Given the description of an element on the screen output the (x, y) to click on. 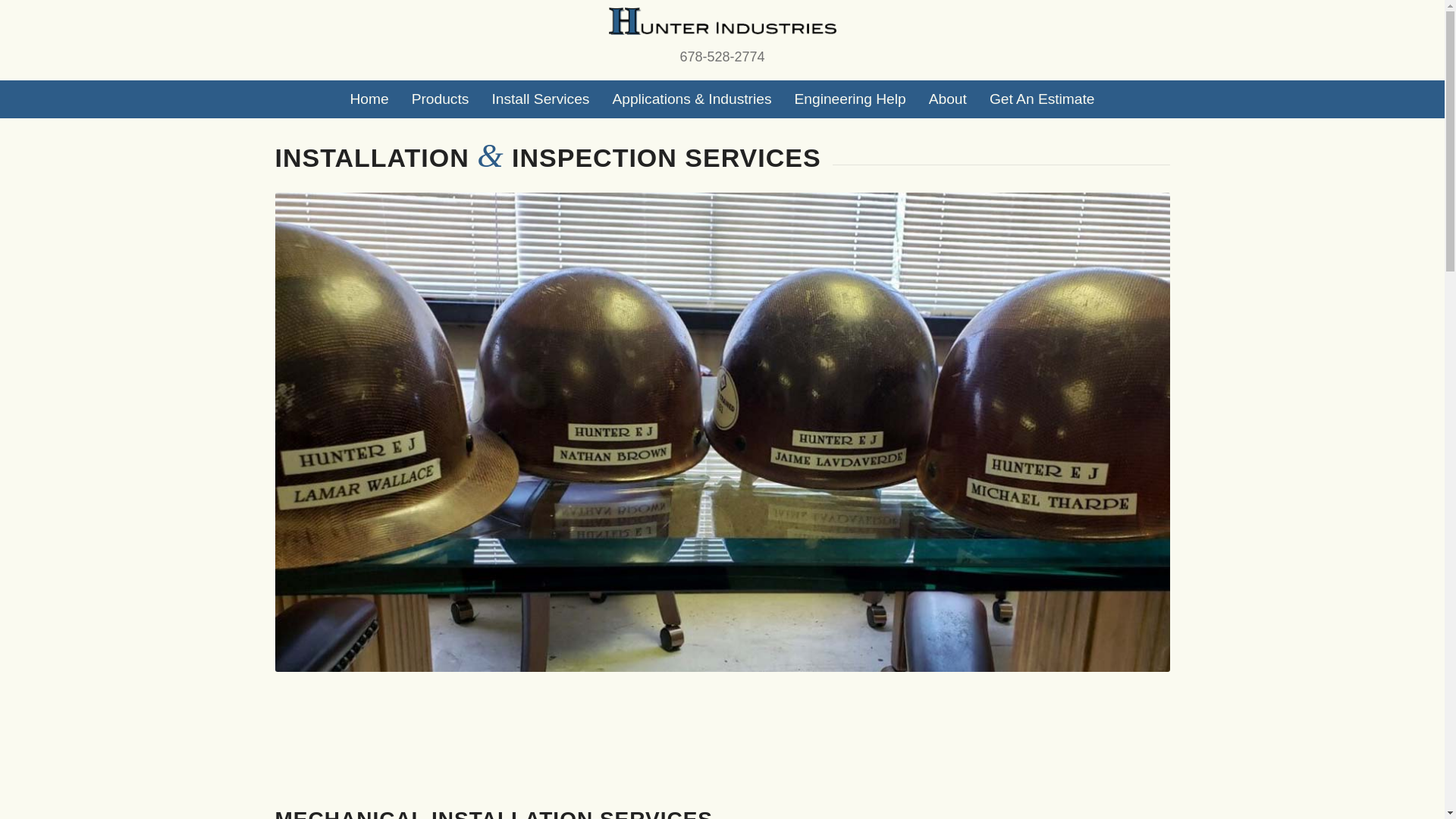
About (947, 98)
678-528-2774 (722, 43)
Engineering Help (849, 98)
Install Services (539, 98)
Get An Estimate (1042, 98)
Products (440, 98)
Home (368, 98)
